Given the description of an element on the screen output the (x, y) to click on. 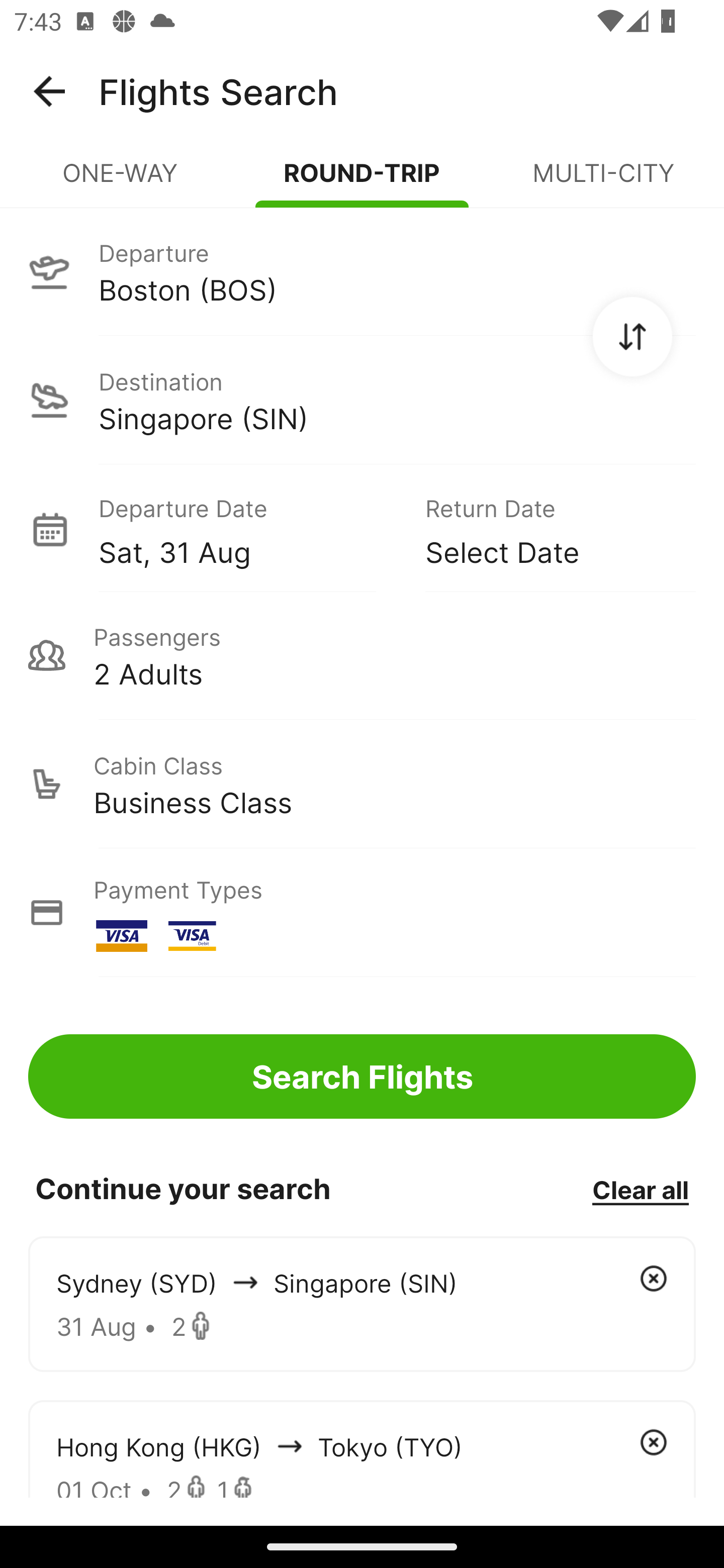
ONE-WAY (120, 180)
ROUND-TRIP (361, 180)
MULTI-CITY (603, 180)
Departure Boston (BOS) (362, 270)
Destination Singapore (SIN) (362, 400)
Departure Date Sat, 31 Aug (247, 528)
Return Date Select Date (546, 528)
Passengers 2 Adults (362, 655)
Cabin Class Business Class (362, 783)
Payment Types (362, 912)
Search Flights (361, 1075)
Clear all (640, 1189)
